Given the description of an element on the screen output the (x, y) to click on. 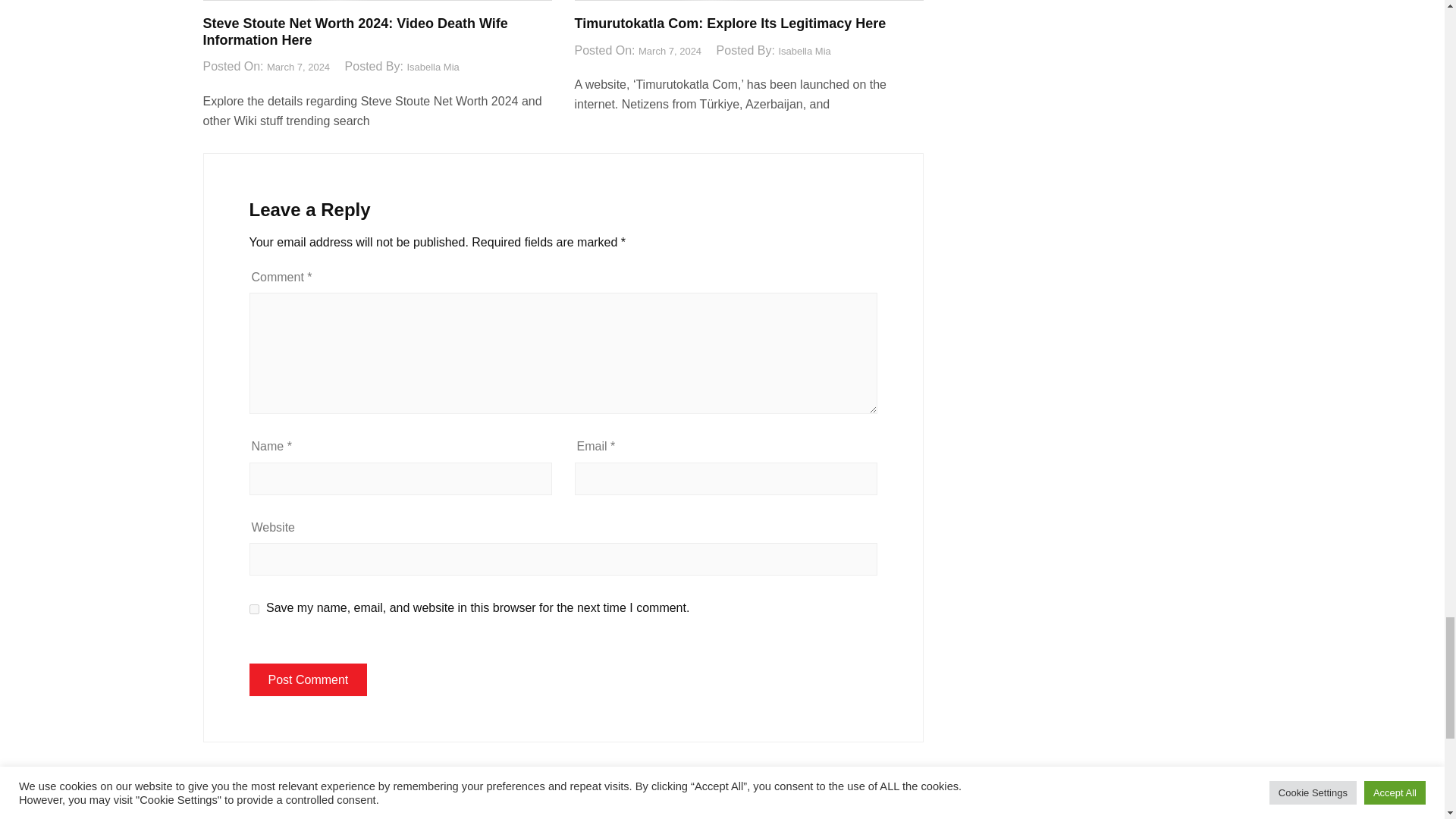
Post Comment (307, 679)
yes (253, 609)
